Given the description of an element on the screen output the (x, y) to click on. 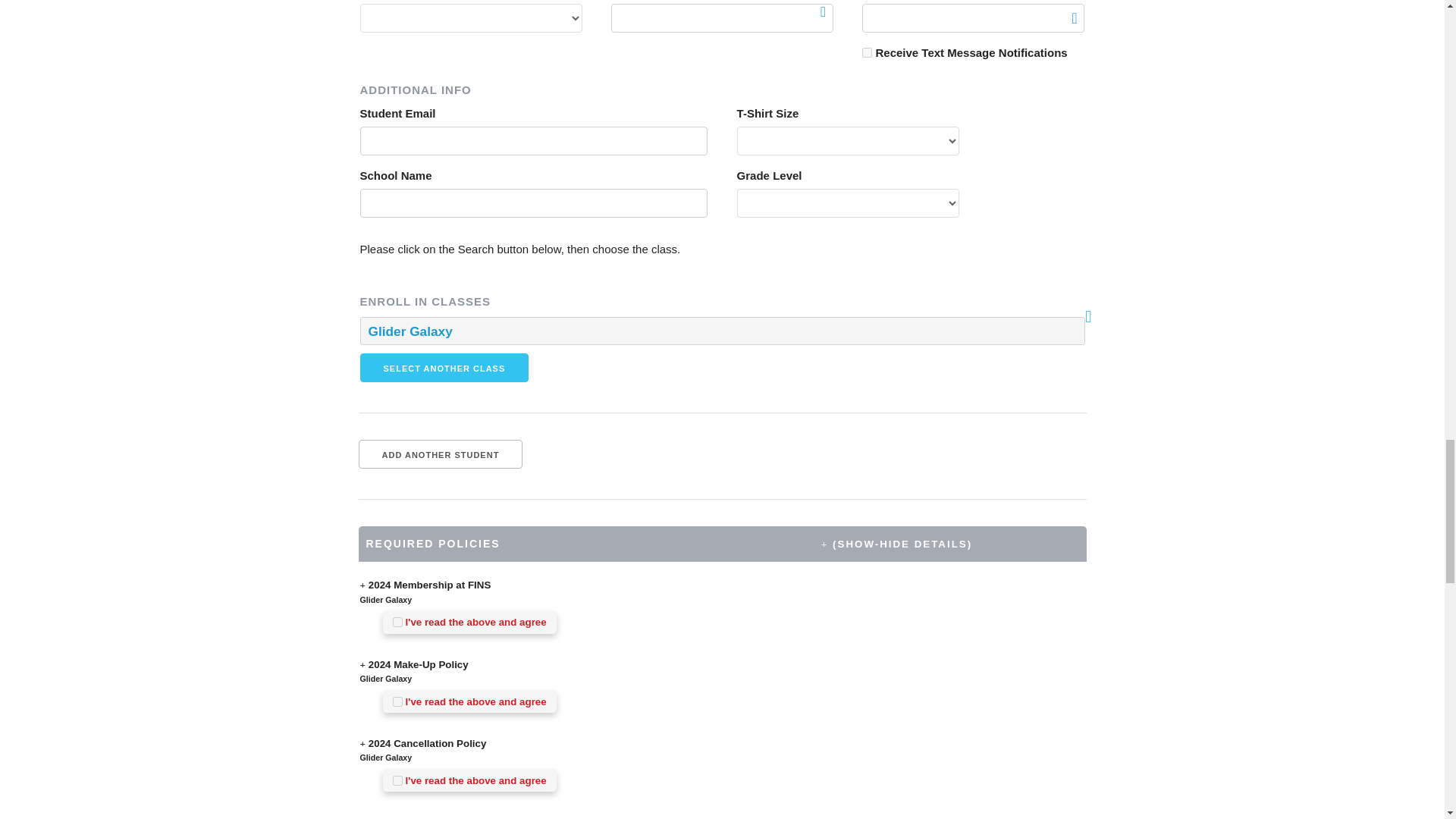
Click to Enter an International Number (1074, 17)
SELECT ANOTHER CLASS (443, 367)
